Given the description of an element on the screen output the (x, y) to click on. 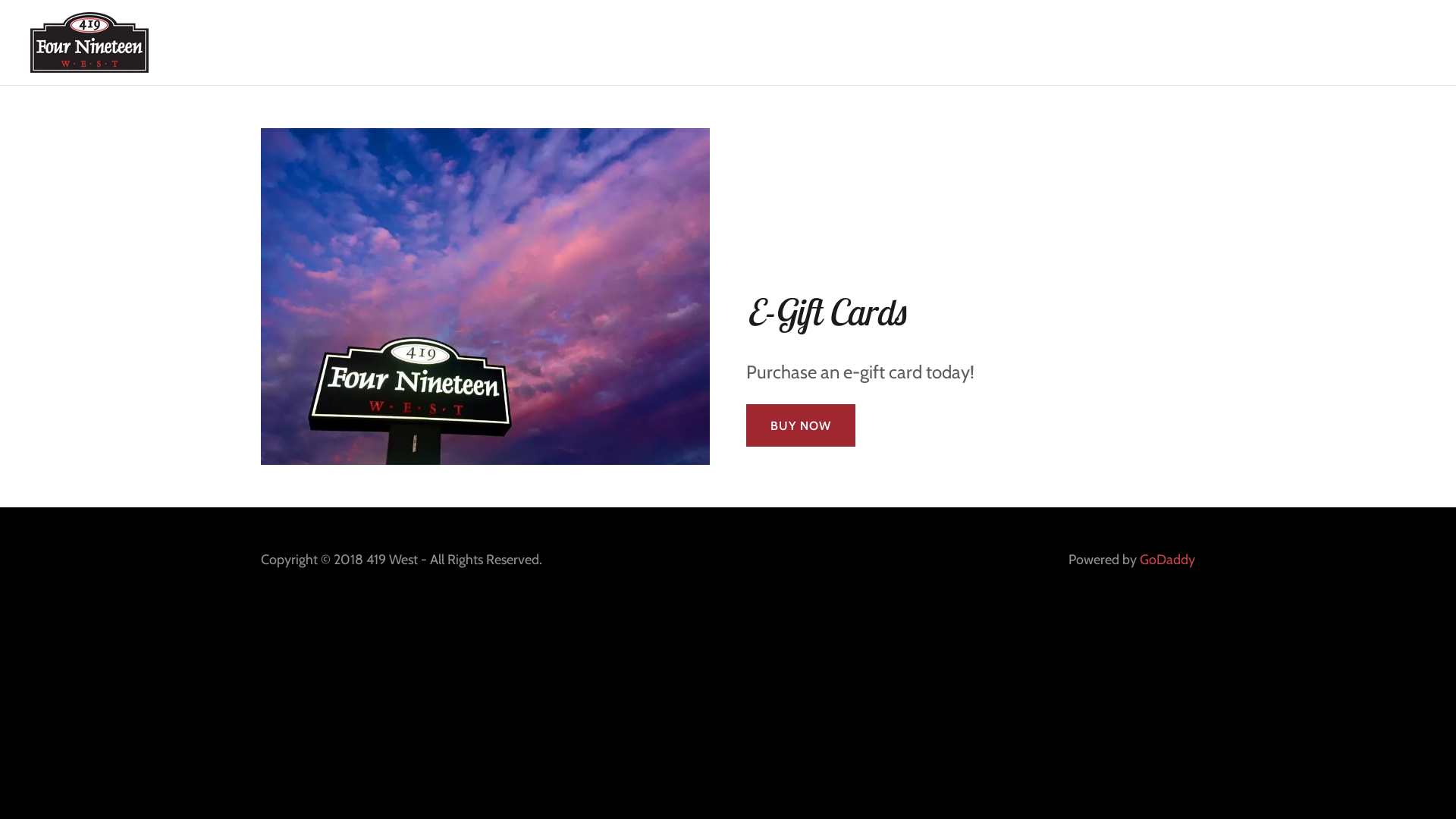
GoDaddy Element type: text (1167, 559)
419 West Element type: hover (89, 40)
BUY NOW Element type: text (800, 425)
